Given the description of an element on the screen output the (x, y) to click on. 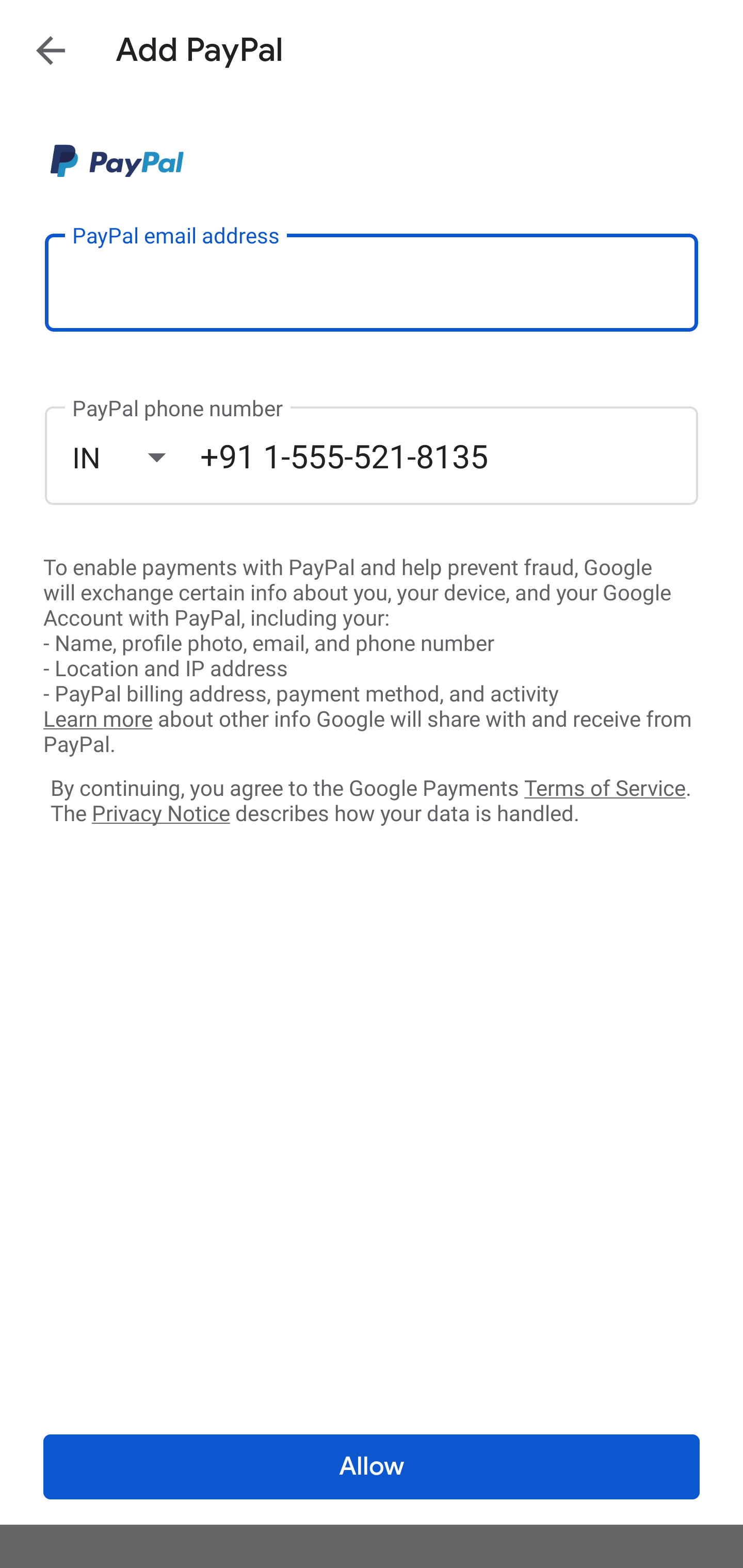
Navigate up (50, 50)
PayPal email address (371, 282)
IN (135, 456)
Learn more (97, 719)
Terms of Service (604, 787)
Privacy Notice (160, 814)
Allow (371, 1466)
